Given the description of an element on the screen output the (x, y) to click on. 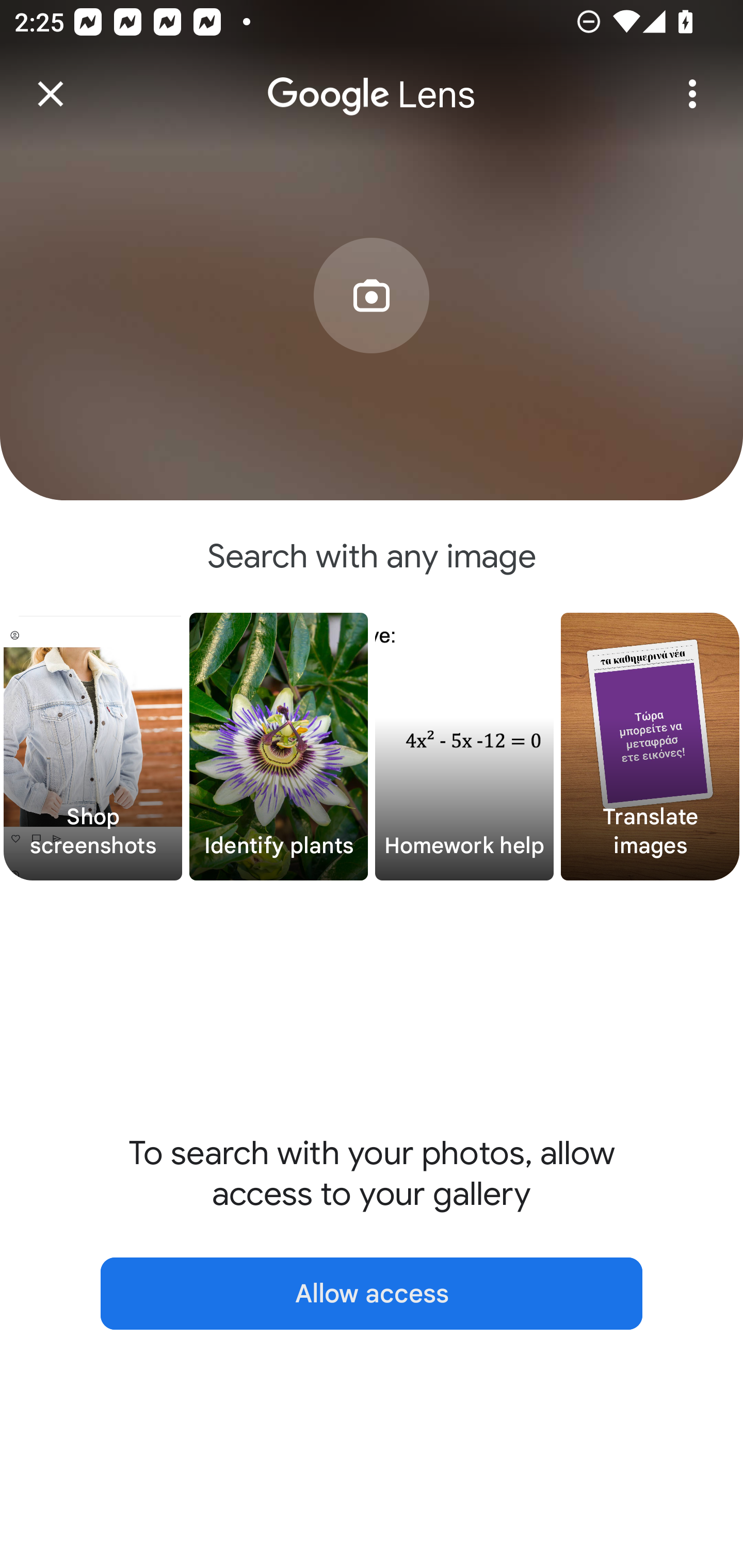
Google Lens Lens (371, 80)
Close (50, 94)
More options (692, 94)
Search with your camera (371, 326)
Shop screenshots (92, 747)
Identify plants (278, 747)
Homework help (464, 747)
Translate images (649, 747)
Allow access (371, 1293)
